Given the description of an element on the screen output the (x, y) to click on. 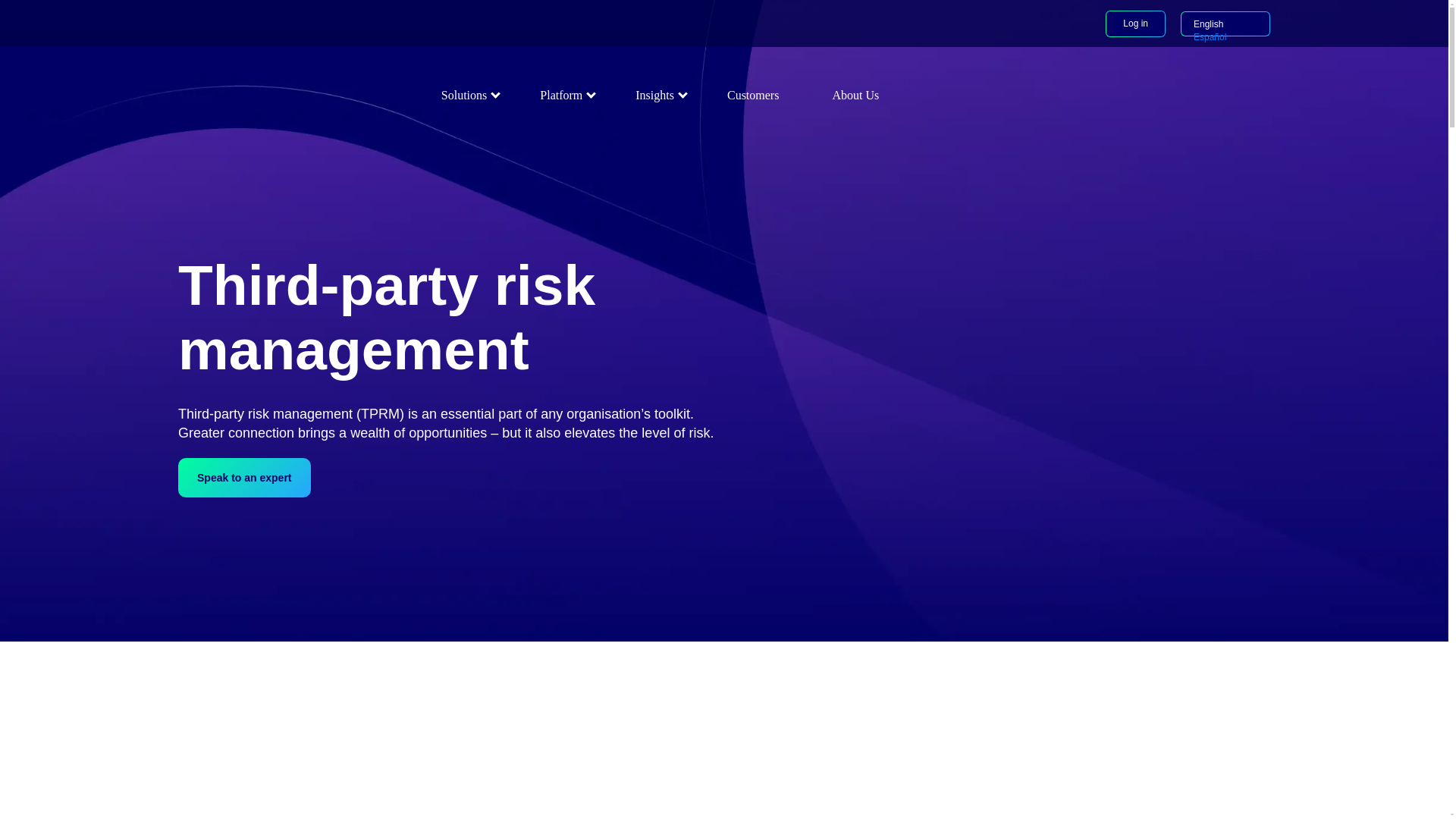
Speak to an expert (244, 477)
Insights (654, 94)
Platform (560, 94)
About Us (855, 94)
Customers (753, 94)
Solutions (464, 94)
Log in (1135, 23)
